Given the description of an element on the screen output the (x, y) to click on. 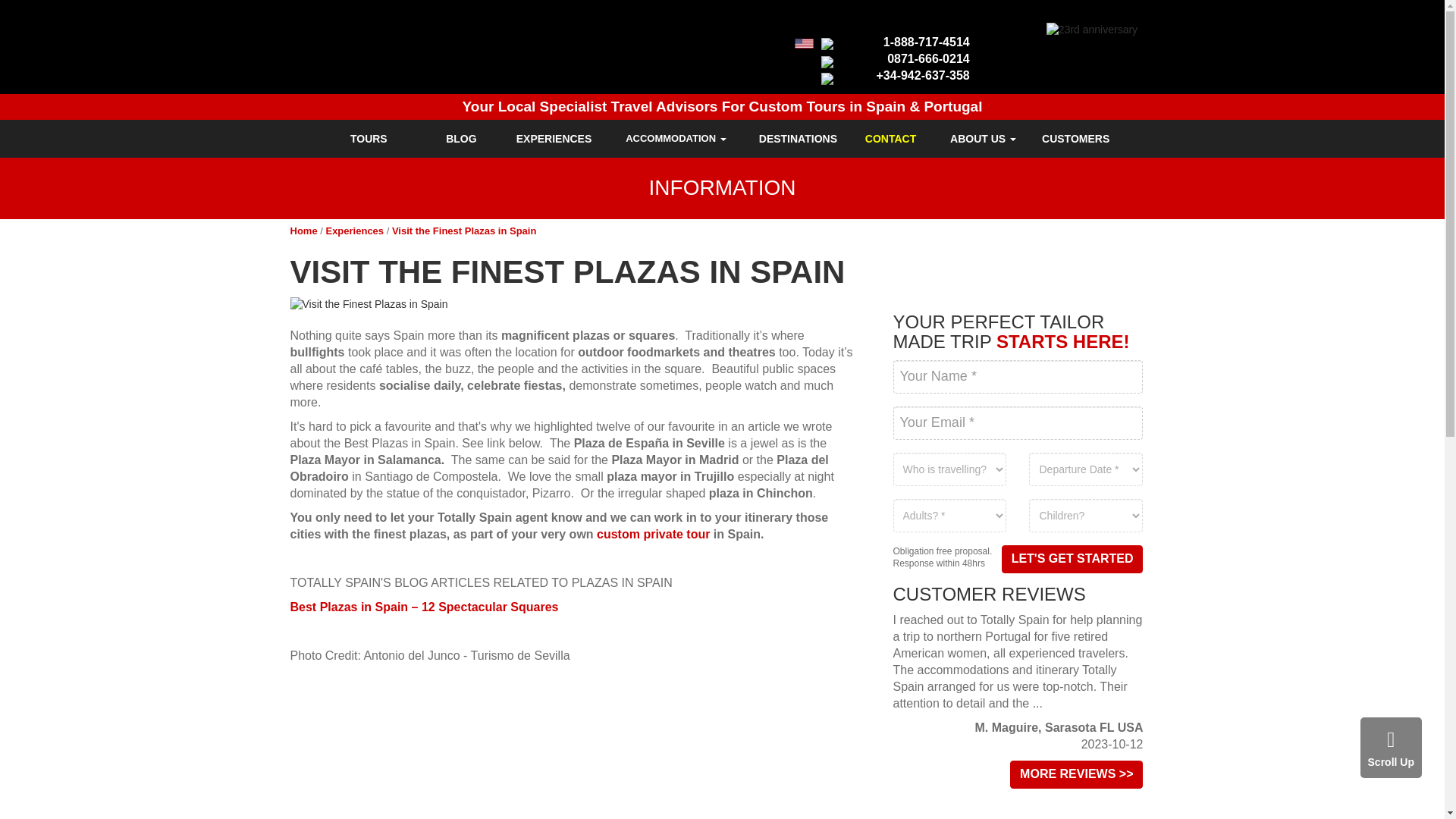
Experiences (354, 230)
Home (303, 230)
1-888-717-4514 (926, 42)
EXPERIENCES (552, 138)
CUSTOMERS (1075, 138)
ACCOMMODATION (675, 138)
BLOG (460, 138)
Visit the Finest Plazas in Spain (574, 304)
23rd anniversary (1091, 29)
0871-666-0214 (927, 58)
